Given the description of an element on the screen output the (x, y) to click on. 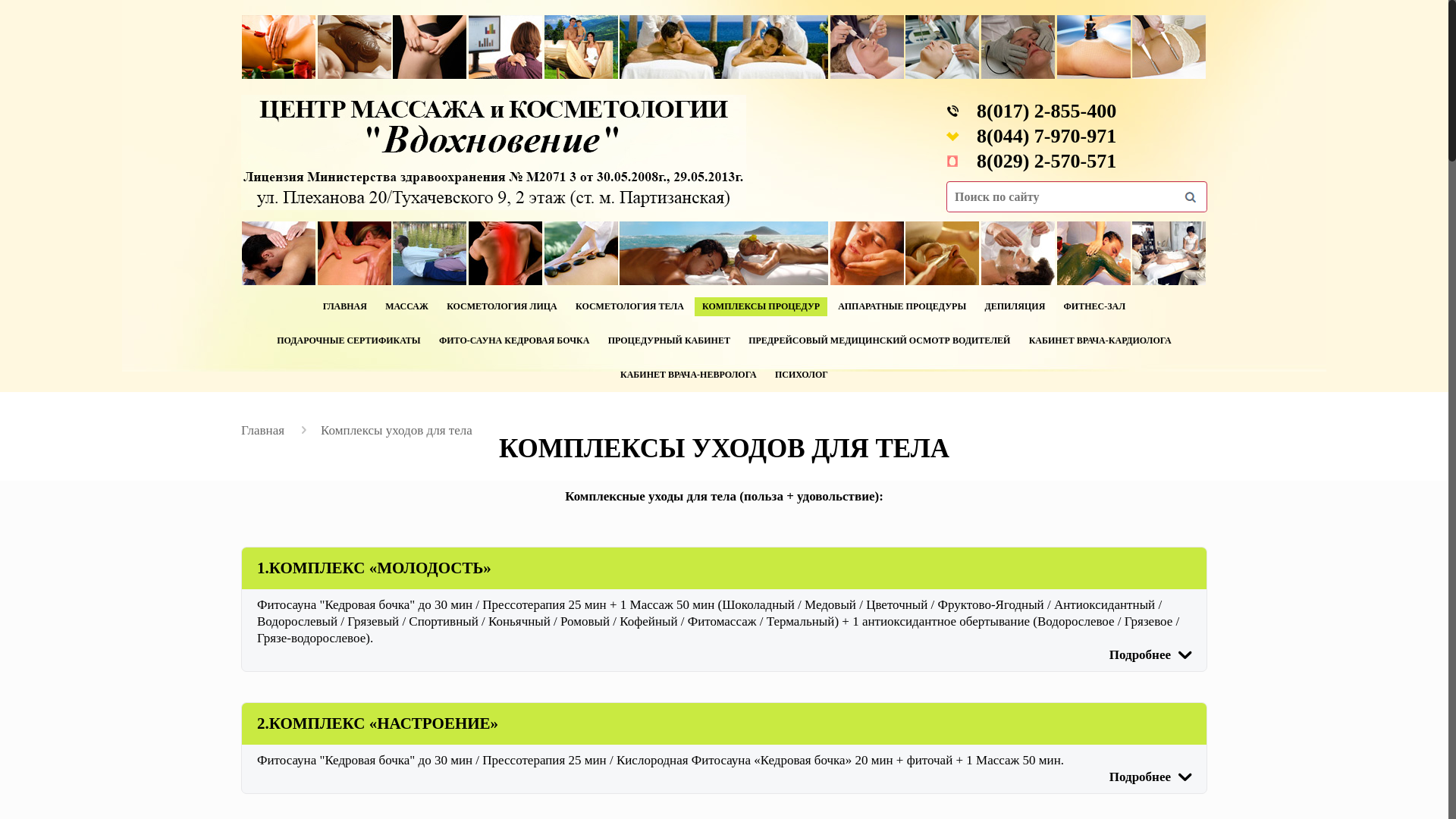
8(044) 7-970-971 Element type: text (1046, 136)
8(029) 2-570-571 Element type: text (1046, 161)
8(017) 2-855-400 Element type: text (1046, 111)
